Given the description of an element on the screen output the (x, y) to click on. 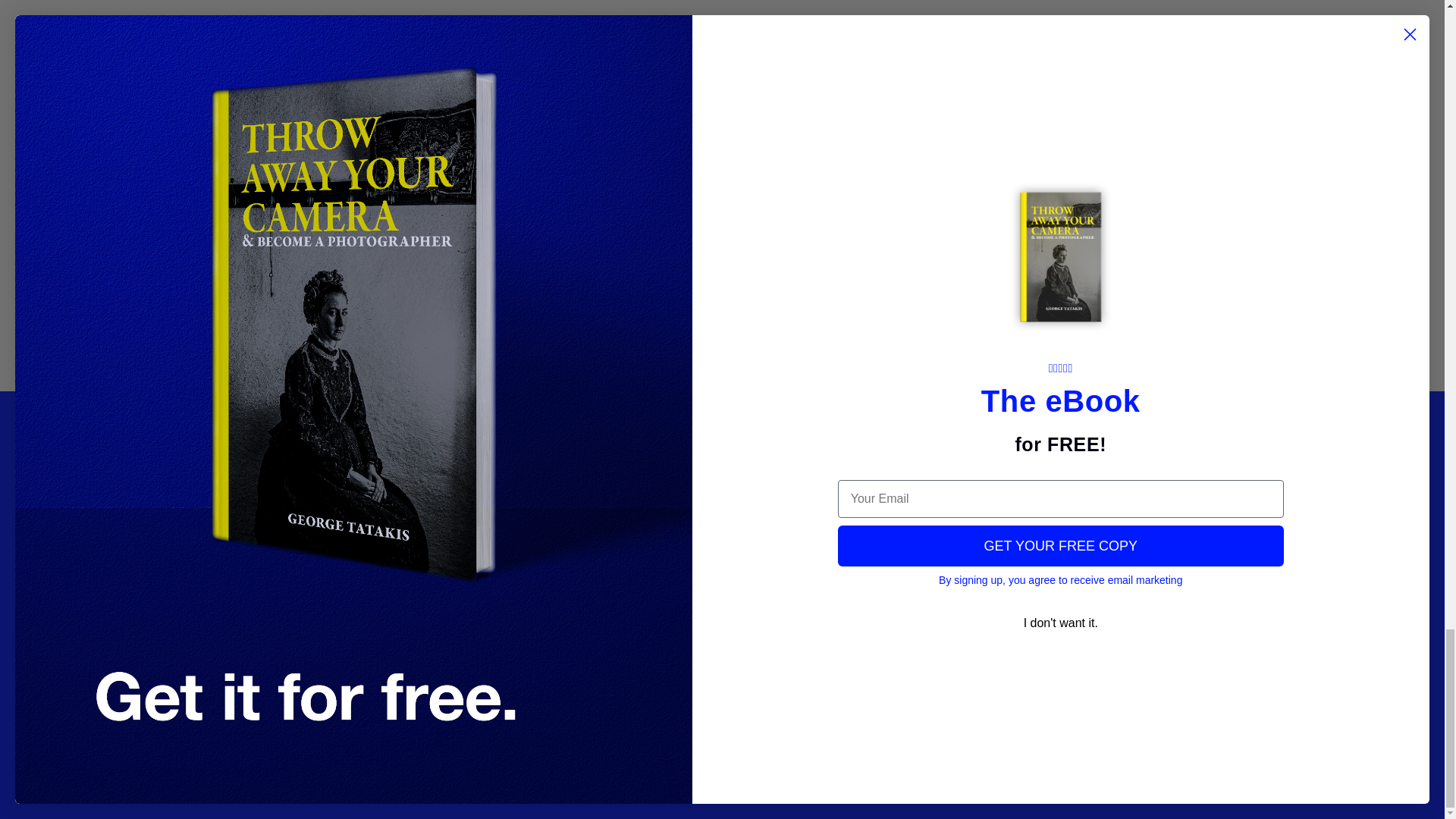
Contact (633, 457)
All collections (441, 530)
